Given the description of an element on the screen output the (x, y) to click on. 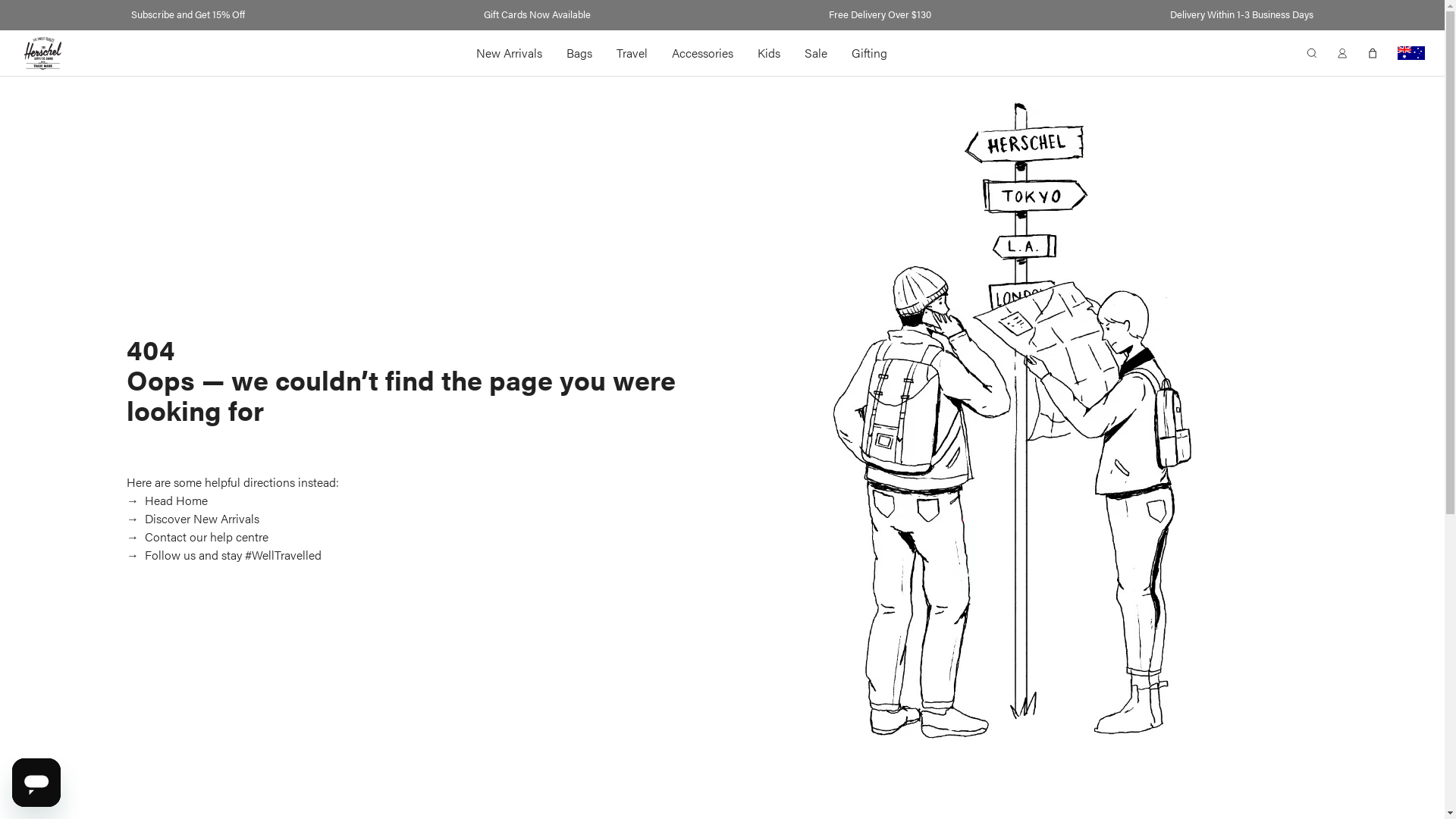
Delivery Within 1-3 Business Days Element type: text (1241, 14)
Accessories Element type: text (702, 52)
Follow us and stay #WellTravelled Element type: text (231, 554)
Travel Element type: text (631, 52)
Kids Element type: text (768, 52)
New Arrivals Element type: text (509, 52)
Button to launch messaging window Element type: hover (36, 782)
Sale Element type: text (815, 52)
Discover New Arrivals Element type: text (200, 518)
Gifting Element type: text (869, 52)
Head Home Element type: text (174, 499)
Subscribe and Get 15% Off Element type: text (187, 14)
Free Delivery Over $130 Element type: text (879, 14)
Select a region Element type: hover (1410, 52)
Gift Cards Now Available Element type: text (536, 14)
Contact our help centre Element type: text (204, 536)
Bags Element type: text (579, 52)
Open Search Element type: hover (1311, 52)
Open Cart Element type: hover (1372, 52)
Account Element type: hover (1342, 52)
